Given the description of an element on the screen output the (x, y) to click on. 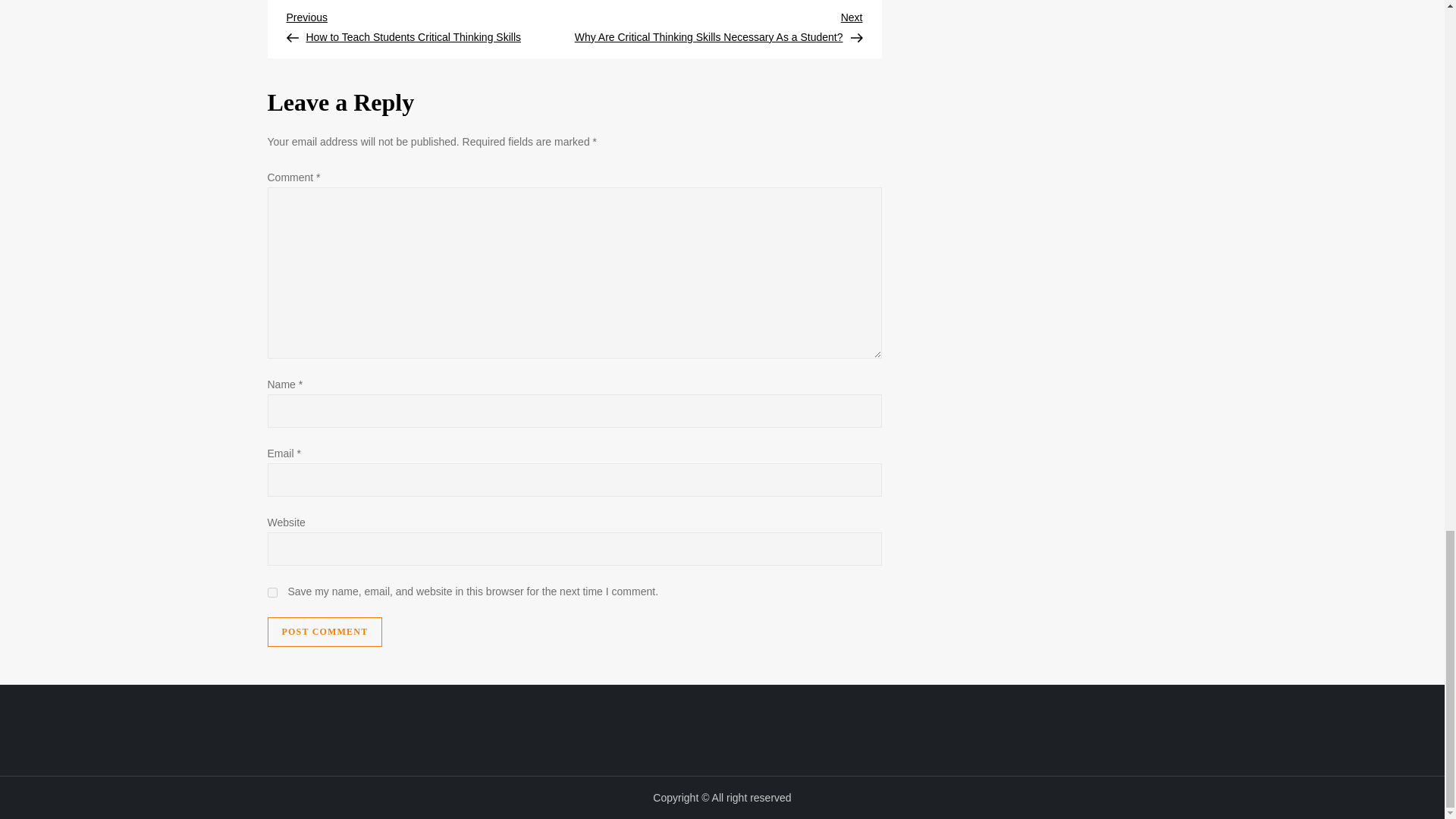
yes (271, 592)
Post Comment (323, 632)
Post Comment (323, 632)
